Given the description of an element on the screen output the (x, y) to click on. 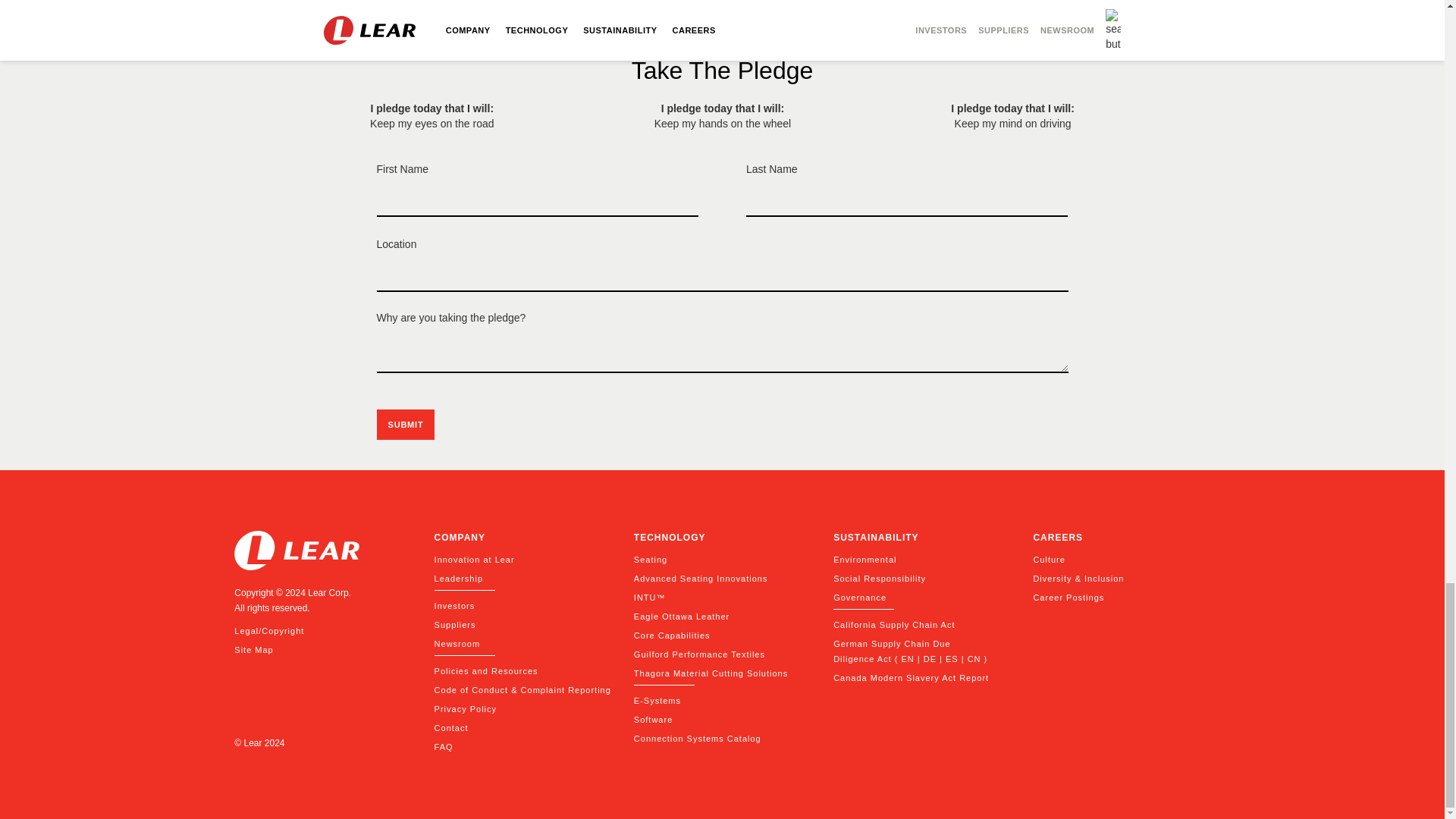
Culture (1120, 559)
Newsroom (522, 643)
Suppliers (522, 624)
Submit (404, 424)
Eagle Ottawa Leather (721, 616)
Connection Systems Catalog (721, 738)
Canada Modern Slavery Act Report (921, 677)
FAQ (522, 746)
Submit (404, 424)
Governance (921, 597)
